Given the description of an element on the screen output the (x, y) to click on. 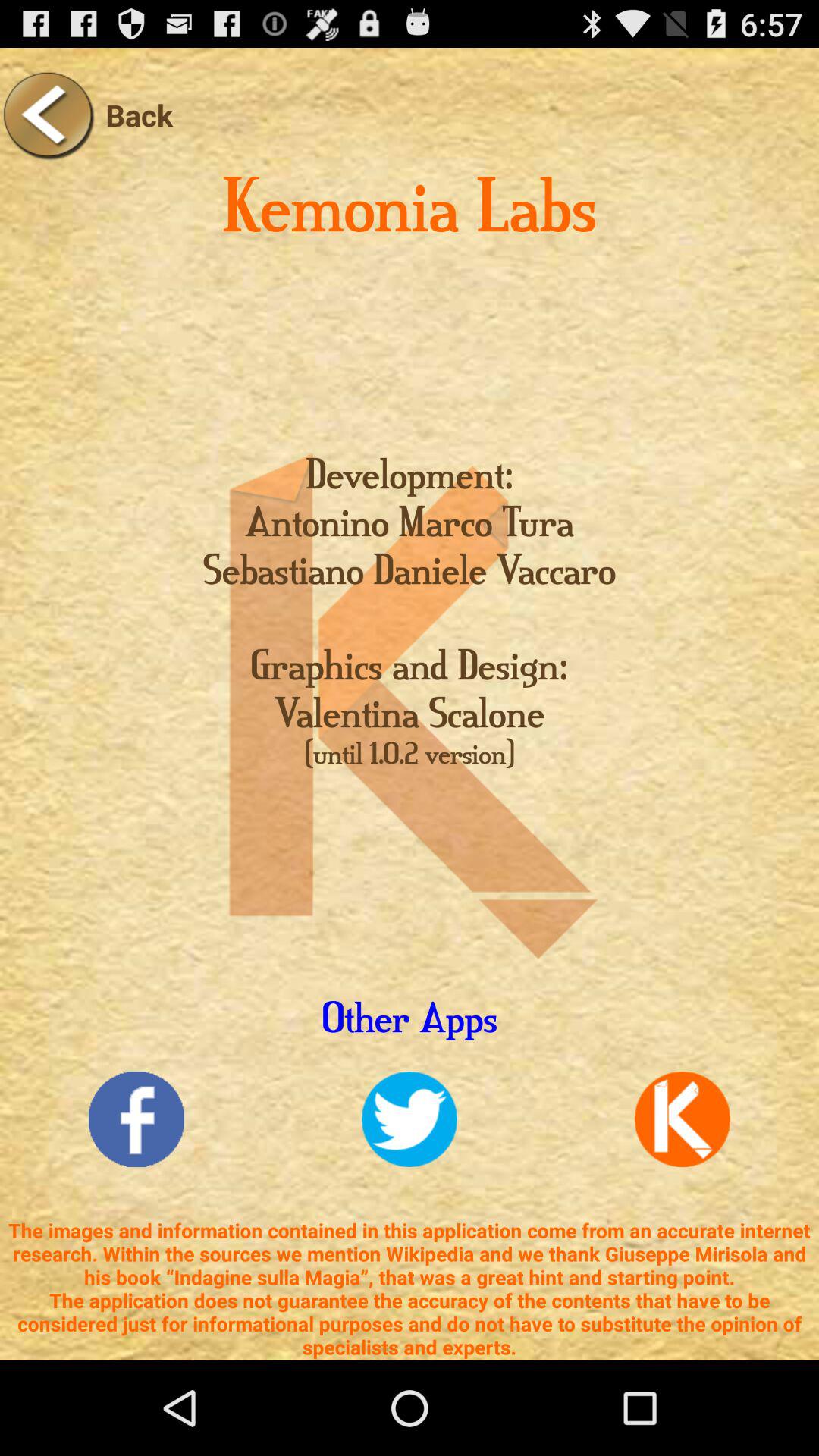
facebook (136, 1119)
